Given the description of an element on the screen output the (x, y) to click on. 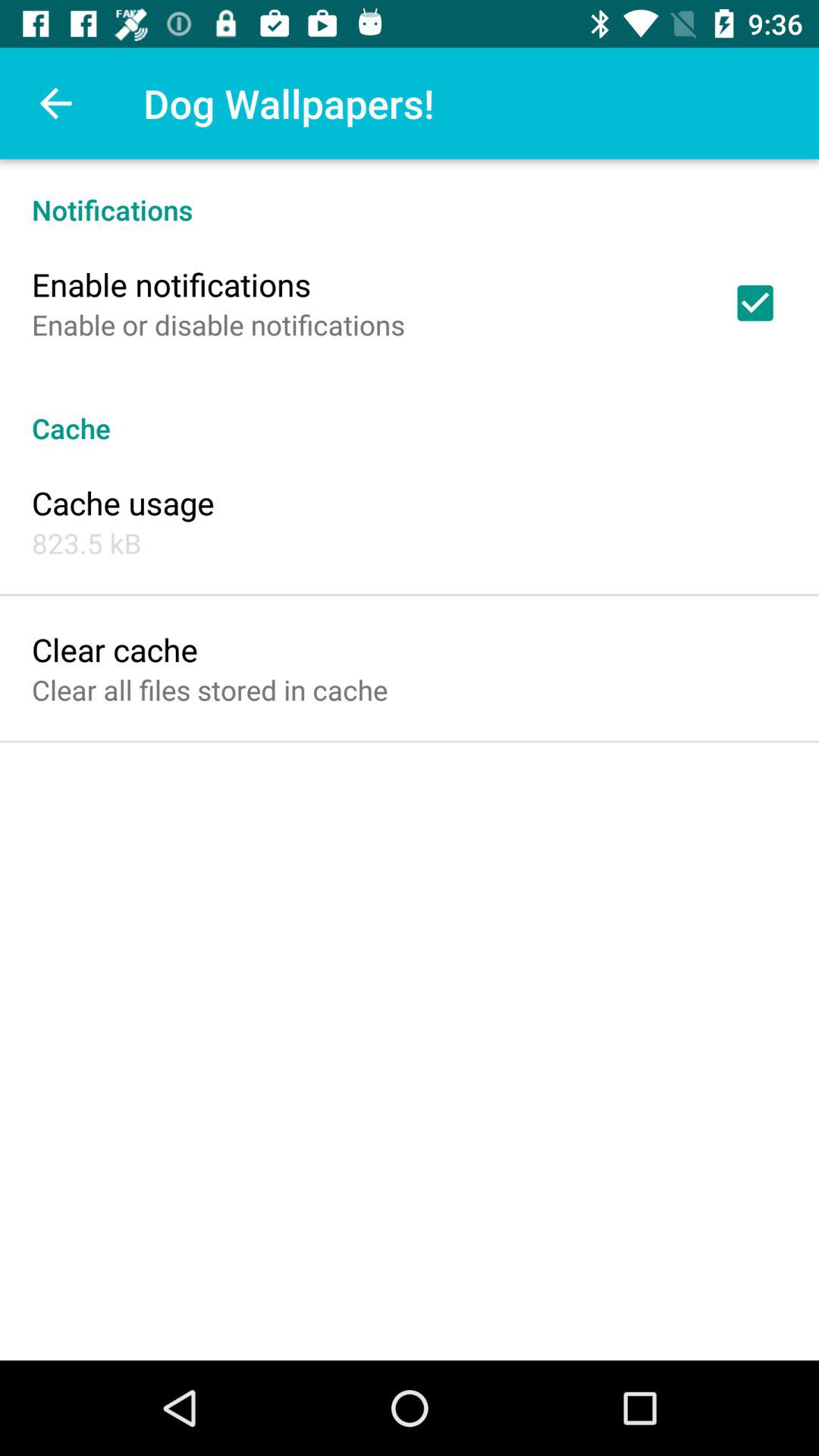
click item next to the dog wallpapers! (55, 103)
